Given the description of an element on the screen output the (x, y) to click on. 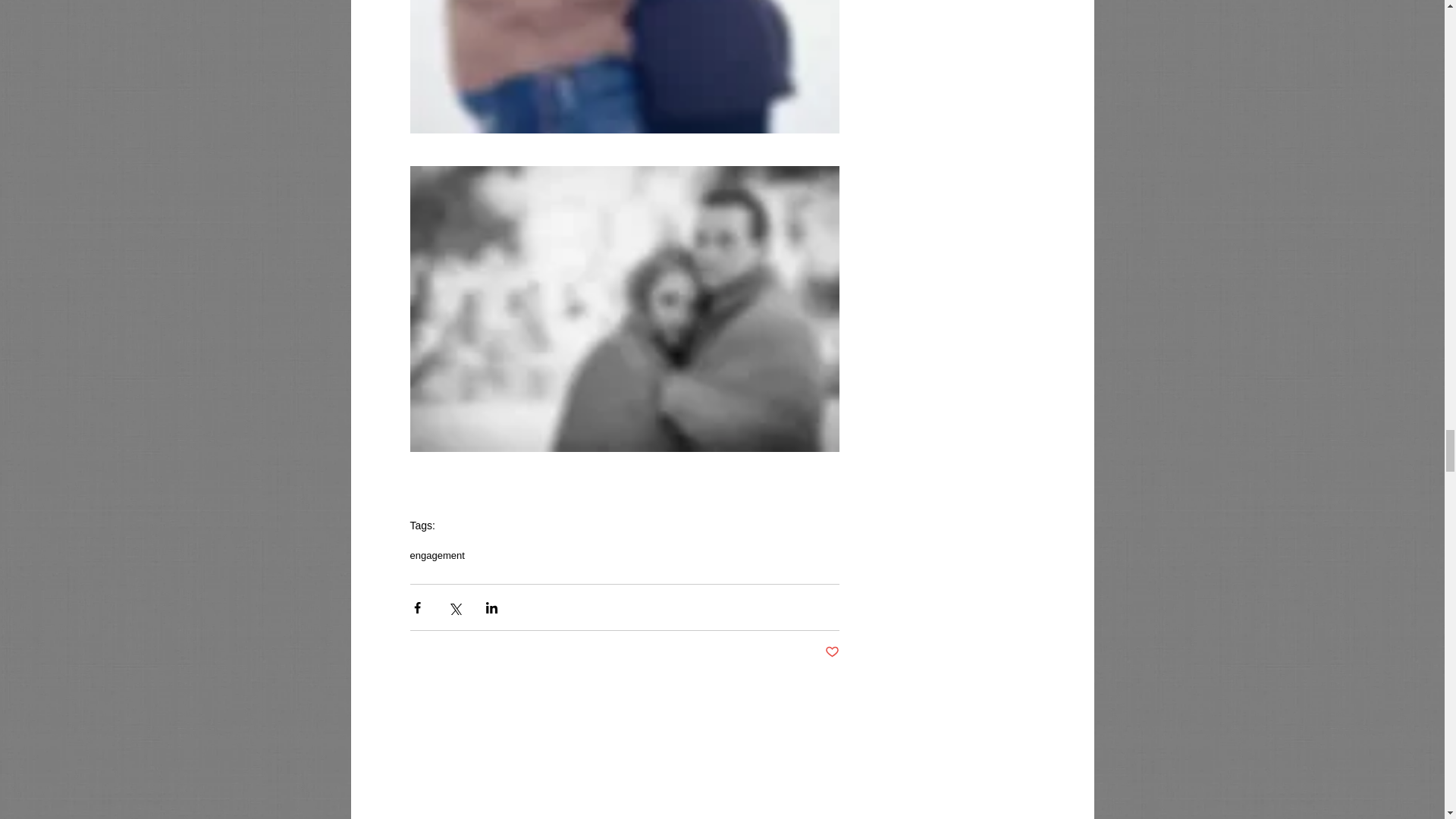
engagement (436, 555)
Post not marked as liked (832, 652)
